Given the description of an element on the screen output the (x, y) to click on. 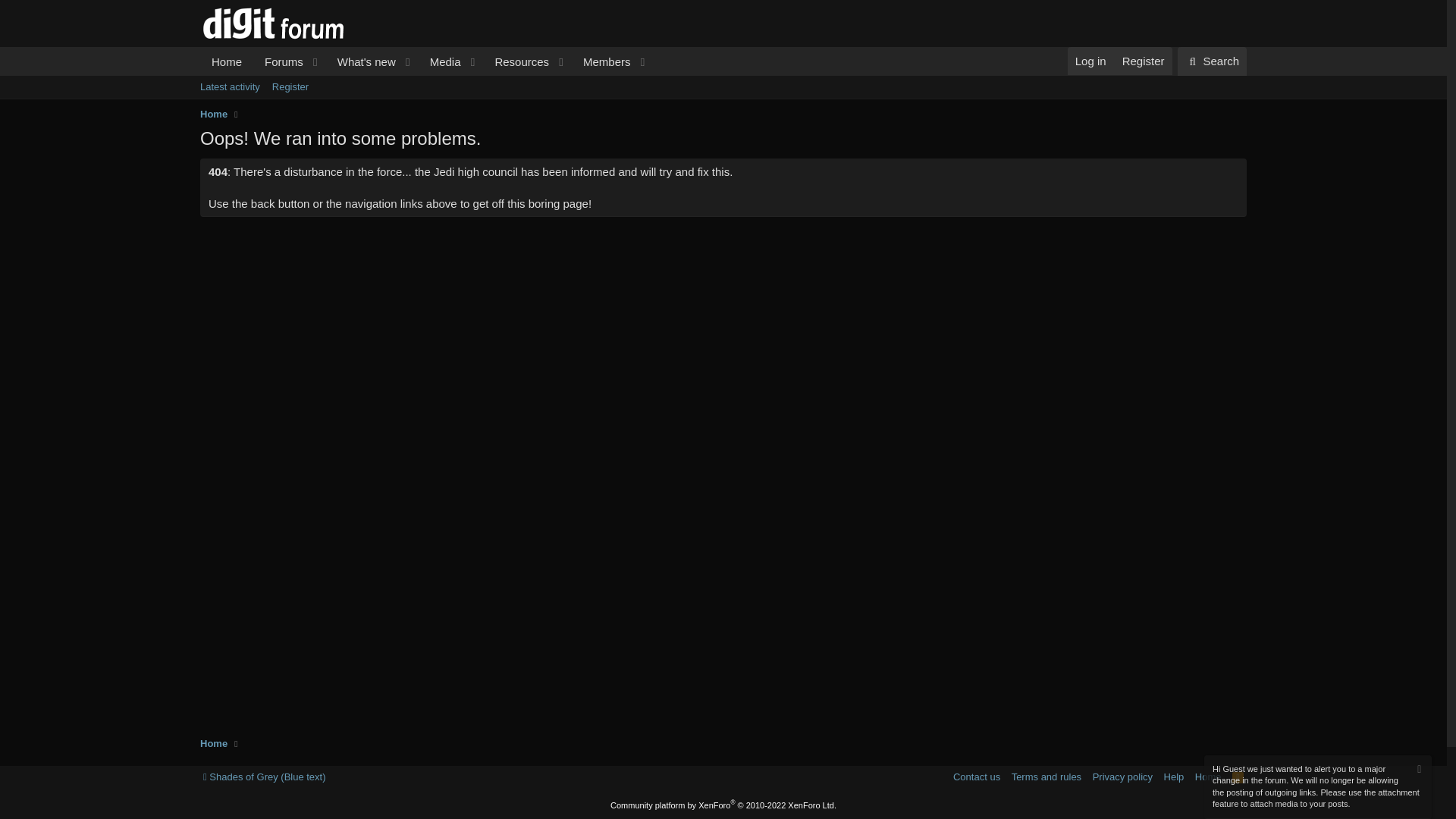
Search (1211, 61)
Forums (278, 61)
Resources (426, 78)
Media (516, 61)
Latest activity (441, 61)
Register (229, 87)
Register (426, 61)
